Given the description of an element on the screen output the (x, y) to click on. 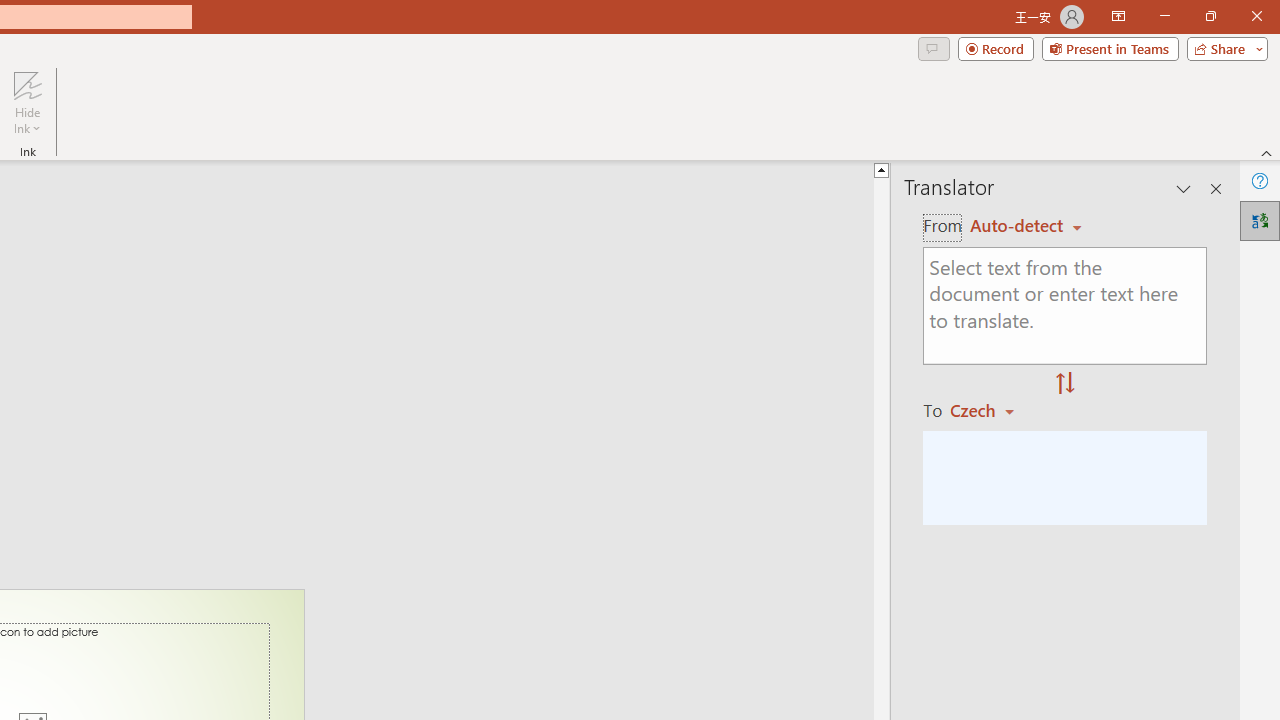
English (1025, 225)
Hide Ink (27, 102)
